Given the description of an element on the screen output the (x, y) to click on. 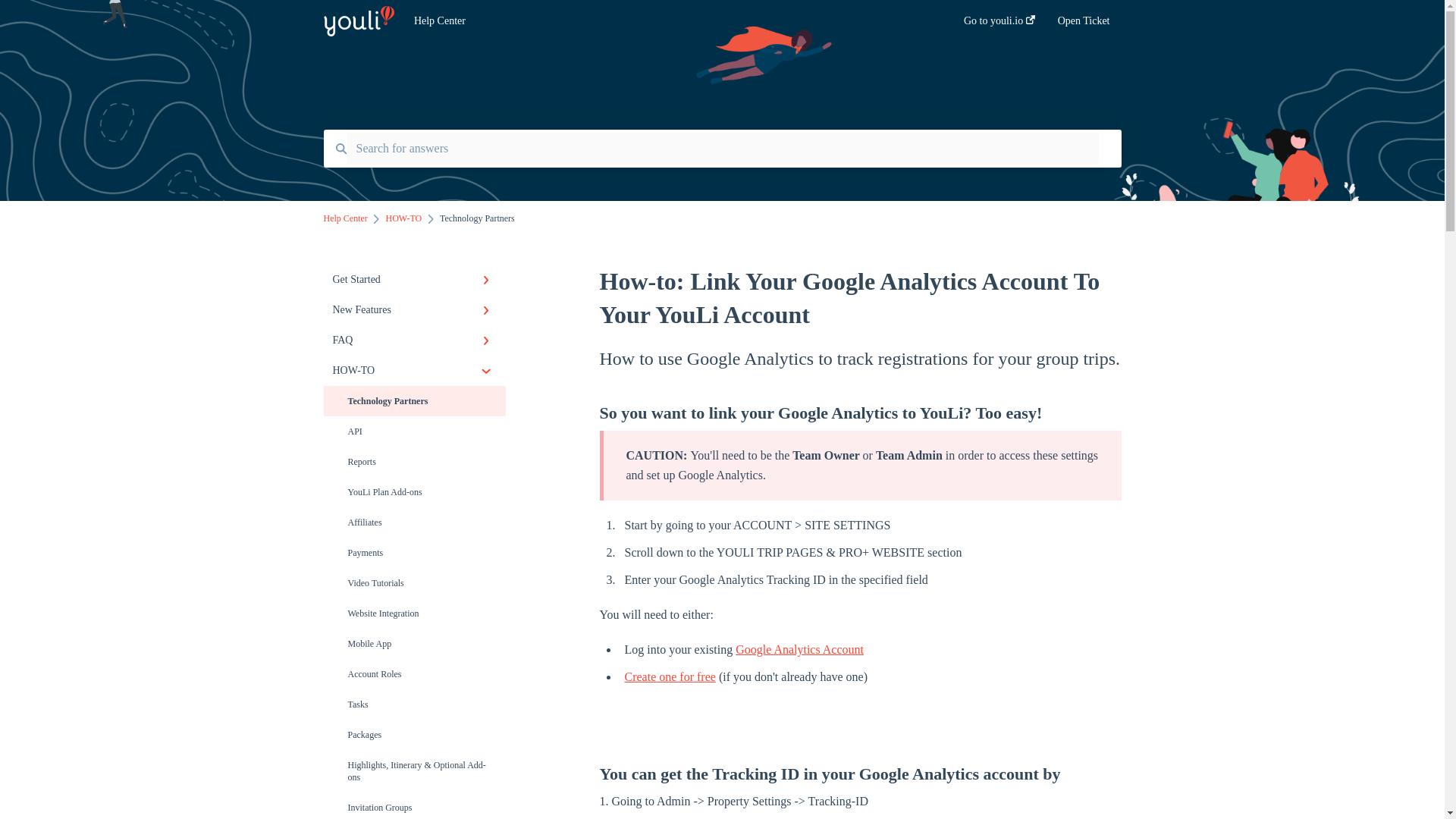
Open Ticket (1083, 25)
Go to youli.io (999, 25)
Help Center (665, 21)
